Given the description of an element on the screen output the (x, y) to click on. 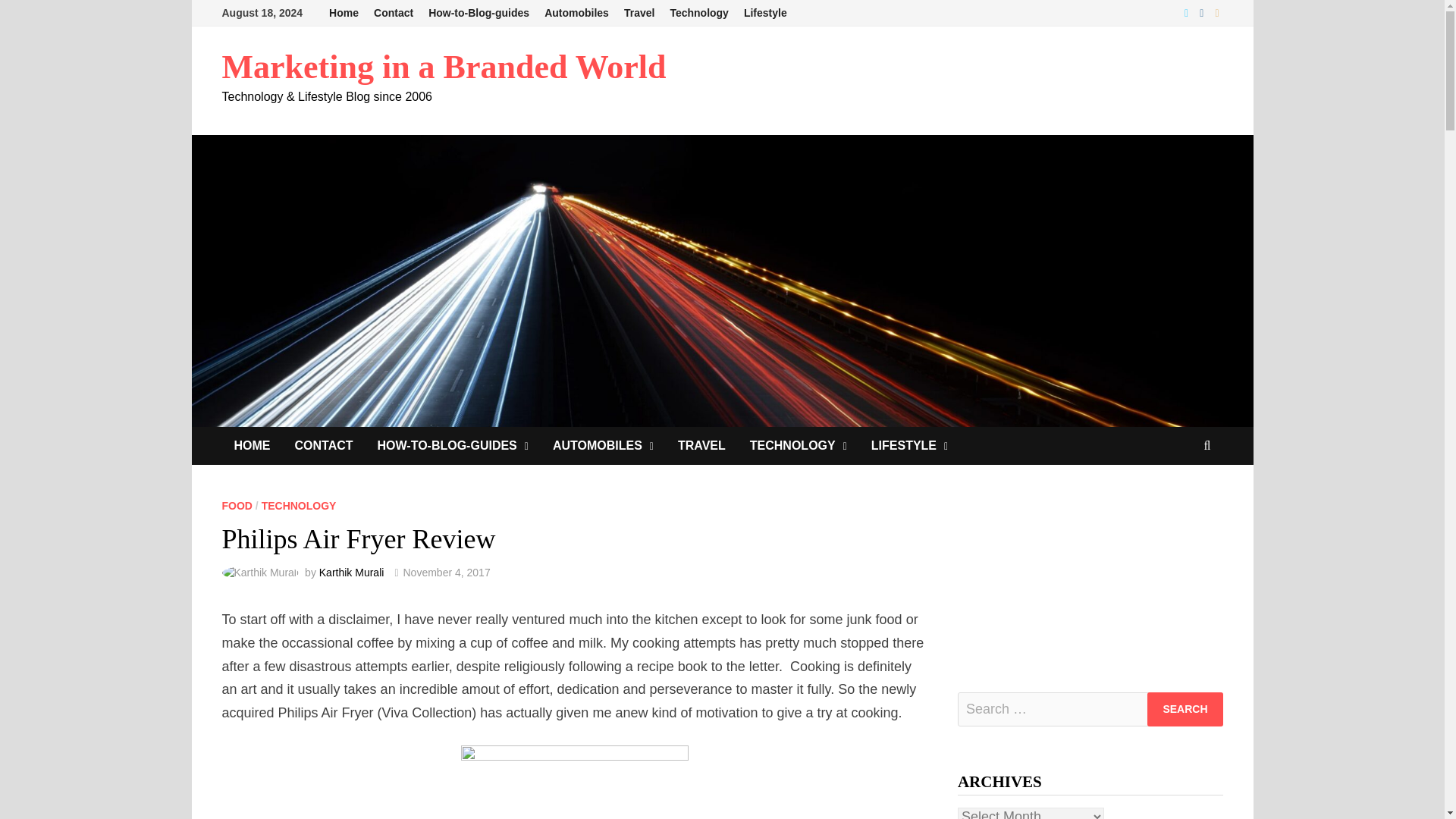
Technology (699, 13)
How-to-Blog-guides (478, 13)
HOME (251, 445)
Search (1185, 709)
Lifestyle (765, 13)
Marketing in a Branded World (443, 66)
Home (343, 13)
Search (1185, 709)
AUTOMOBILES (602, 445)
HOW-TO-BLOG-GUIDES (452, 445)
